Given the description of an element on the screen output the (x, y) to click on. 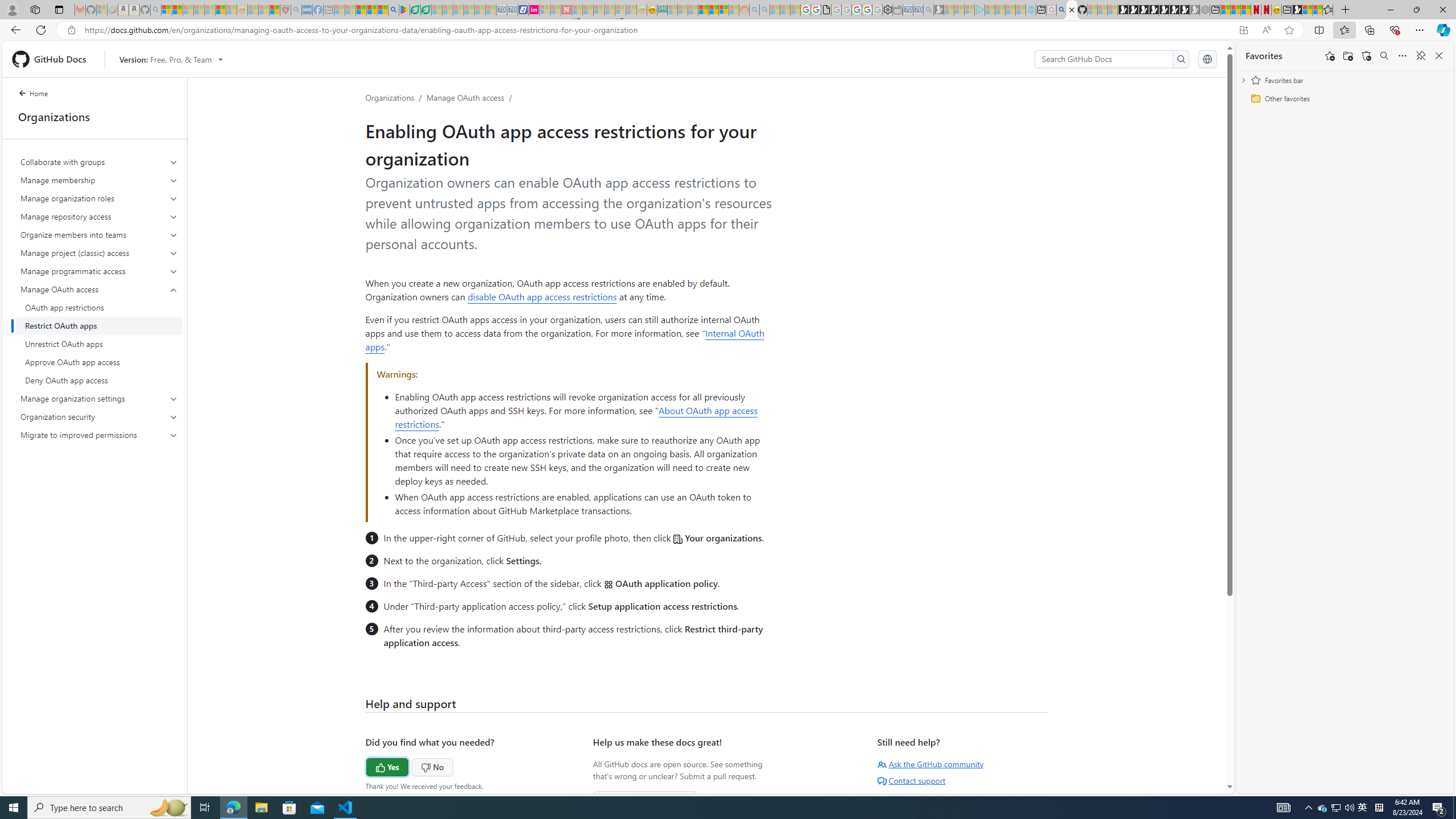
Organizations (389, 97)
Close favorites (1439, 55)
Manage programmatic access (99, 271)
Manage repository access (99, 216)
2Next to the organization, click Settings. (578, 560)
disable OAuth app access restrictions (542, 296)
Add this page to favorites (1330, 55)
